Given the description of an element on the screen output the (x, y) to click on. 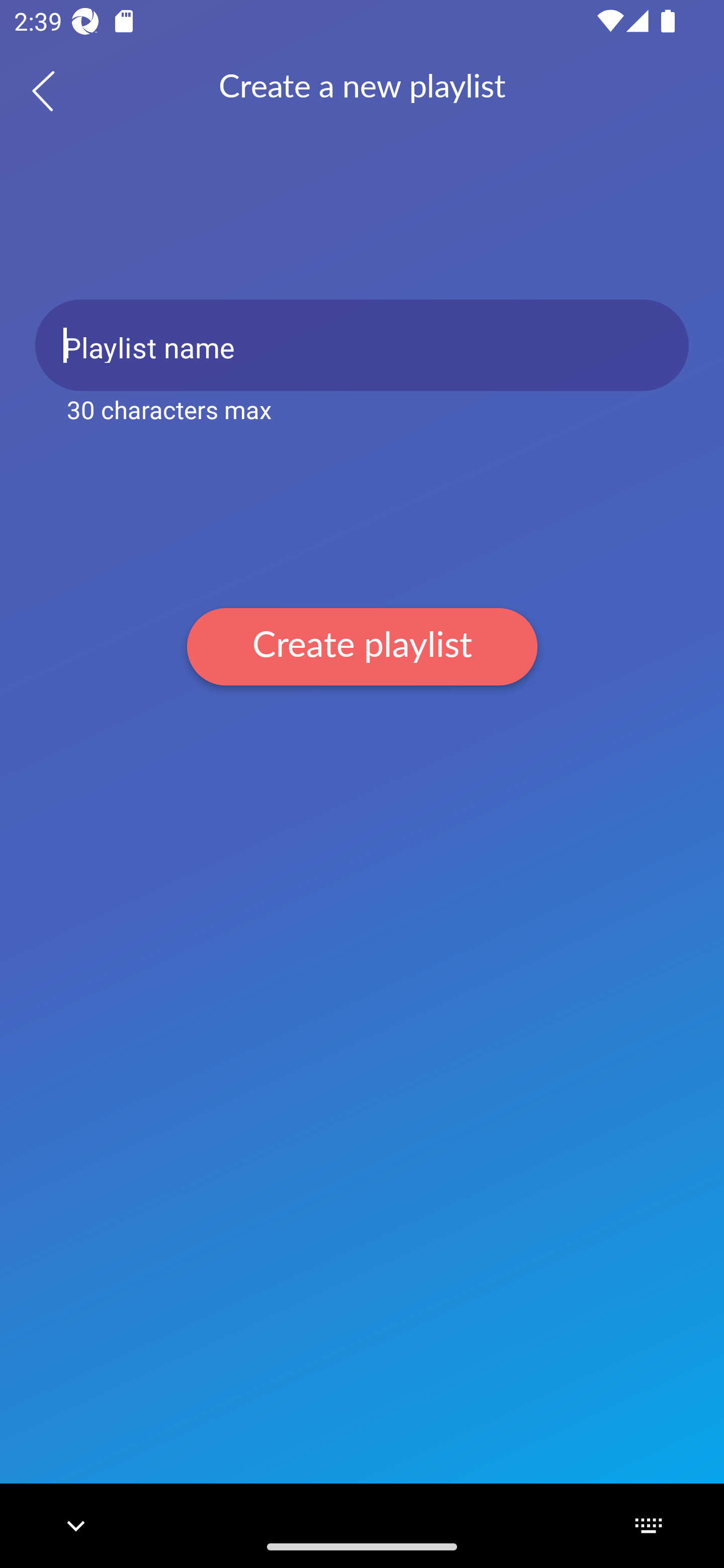
Playlist name (361, 344)
Create playlist (362, 646)
